Given the description of an element on the screen output the (x, y) to click on. 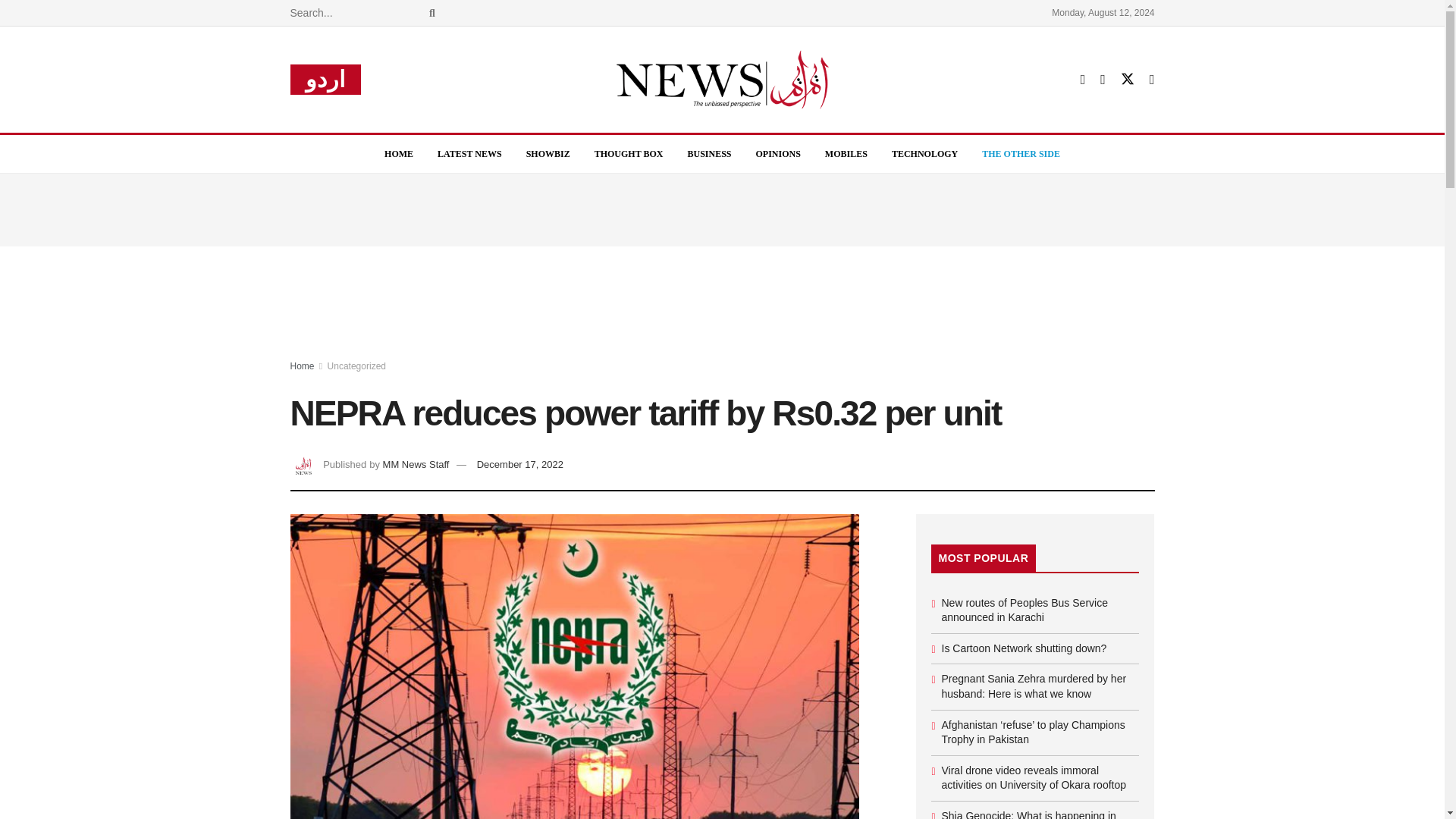
SHOWBIZ (547, 153)
THOUGHT BOX (628, 153)
HOME (398, 153)
OPINIONS (778, 153)
TECHNOLOGY (924, 153)
LATEST NEWS (469, 153)
BUSINESS (708, 153)
THE OTHER SIDE (1020, 153)
MOBILES (845, 153)
